Given the description of an element on the screen output the (x, y) to click on. 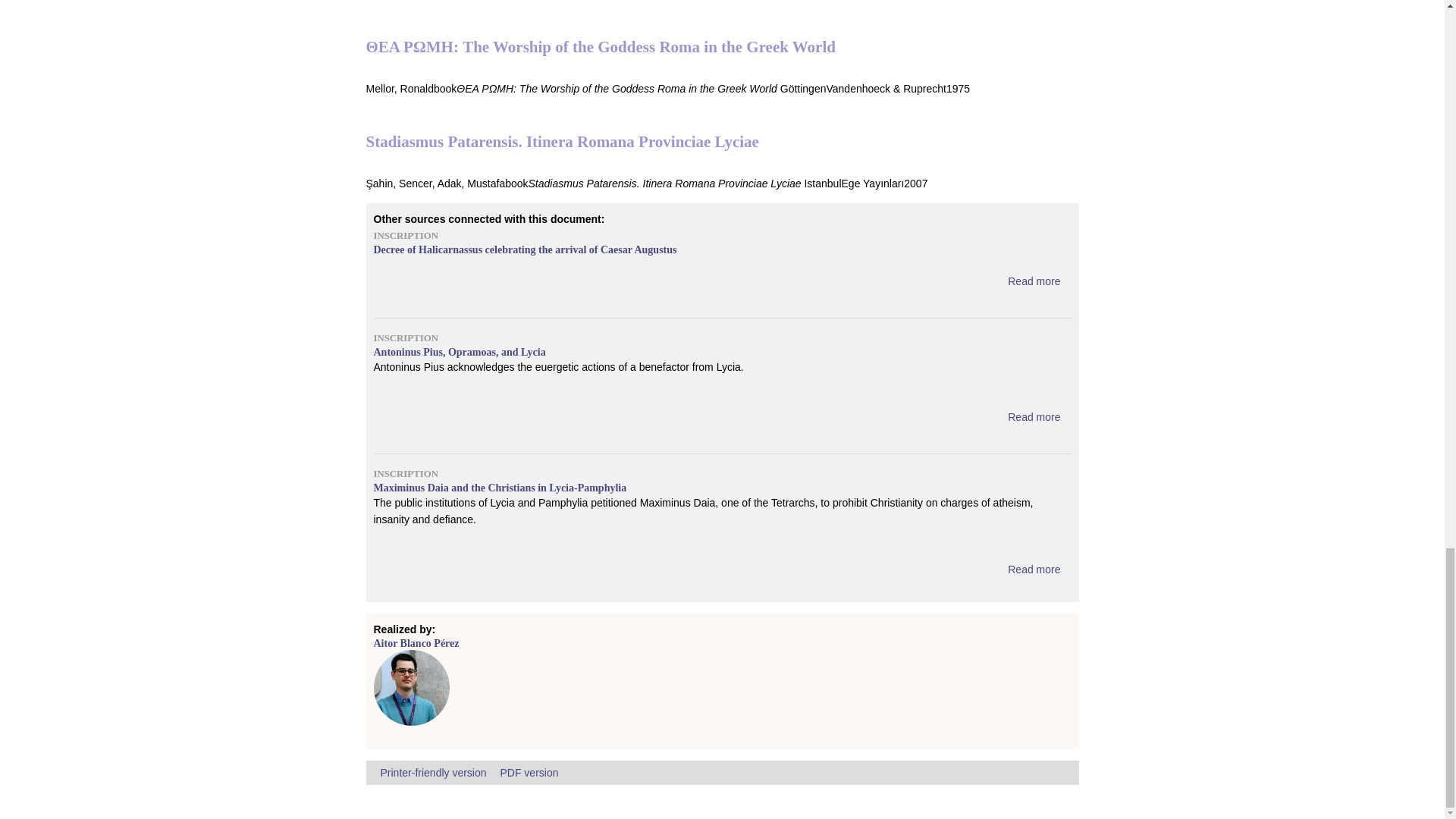
Display a PDF version of this page. (528, 772)
Antoninus Pius, Opramoas, and Lycia (1033, 417)
Maximinus Daia and the Christians in Lycia-Pamphylia (1033, 569)
Display a printer-friendly version of this page. (433, 772)
